Given the description of an element on the screen output the (x, y) to click on. 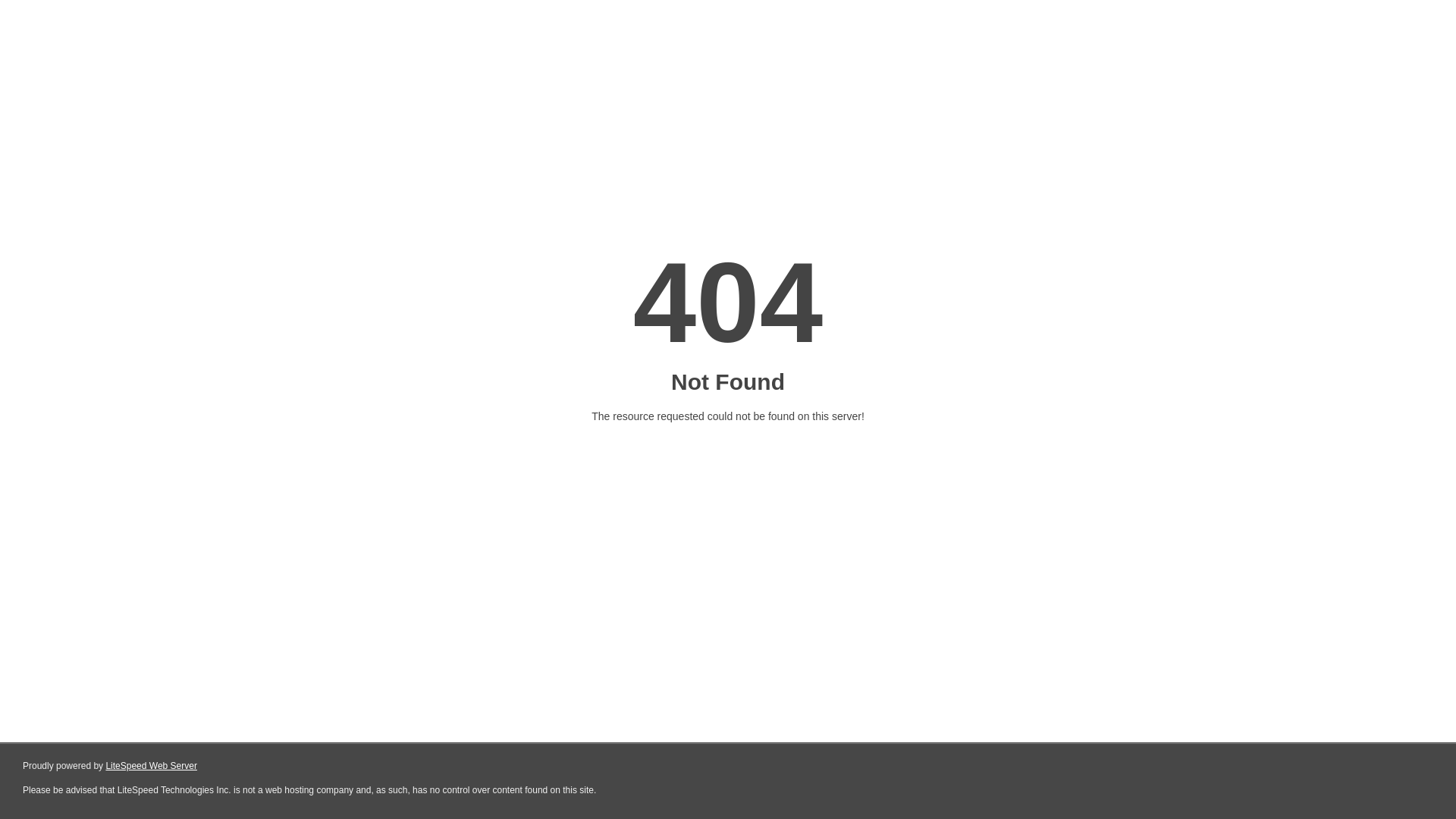
LiteSpeed Web Server Element type: text (151, 765)
